Given the description of an element on the screen output the (x, y) to click on. 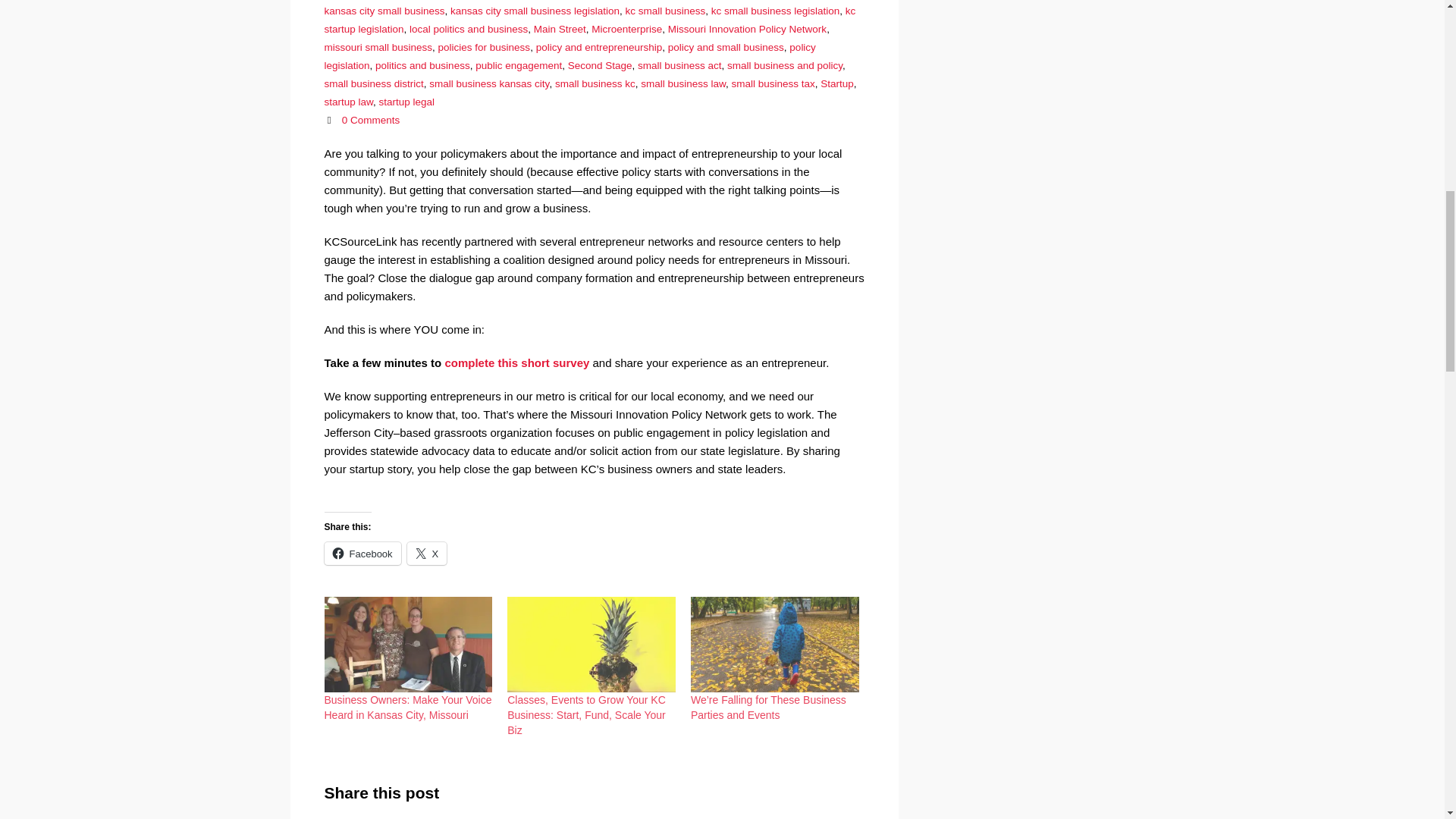
0 Comments (371, 120)
